Given the description of an element on the screen output the (x, y) to click on. 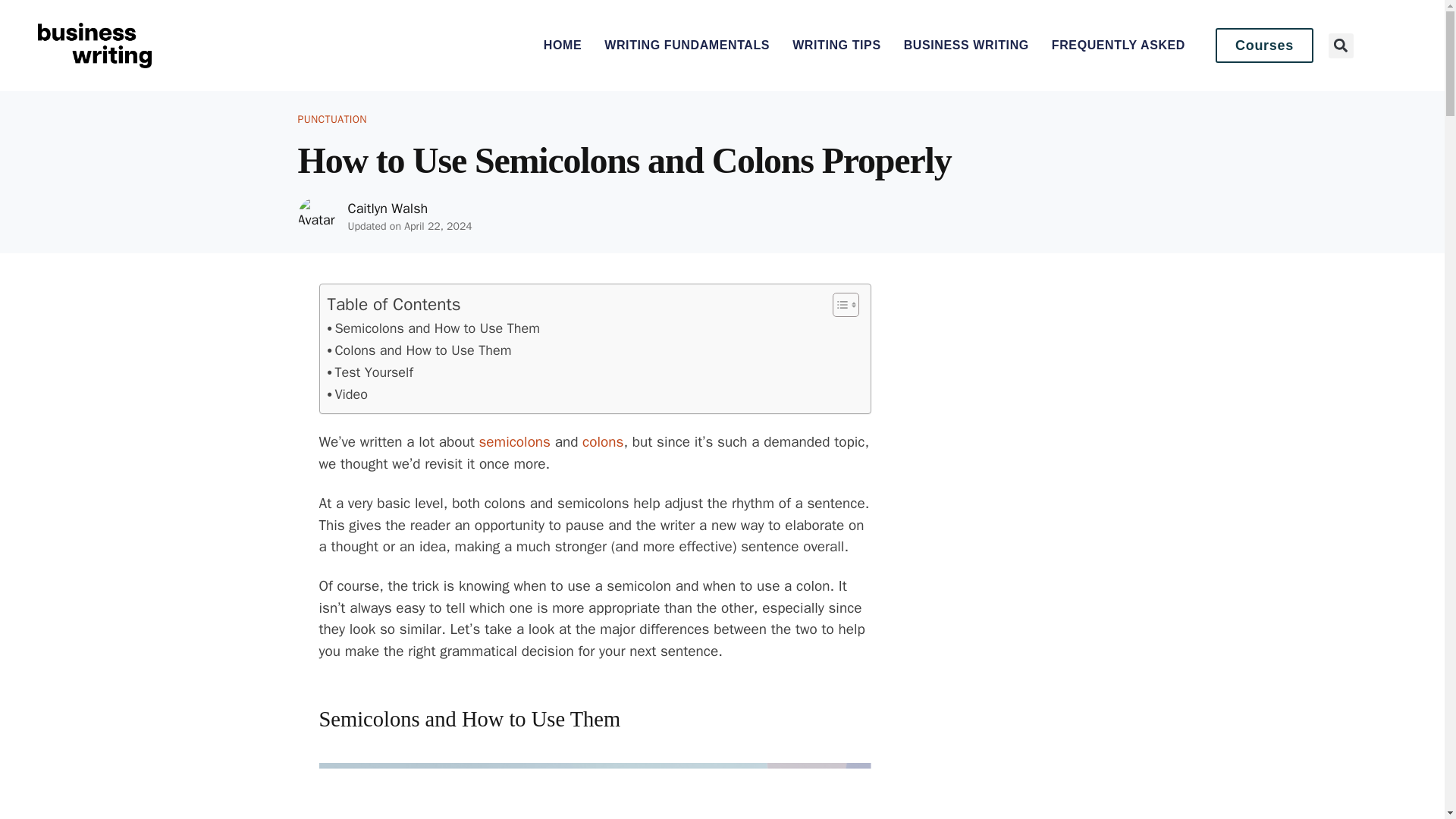
BUSINESS WRITING (966, 45)
PUNCTUATION (331, 119)
HOME (561, 45)
Courses (1264, 45)
WRITING TIPS (836, 45)
Semicolons and How to Use Them (433, 328)
Test Yourself (370, 372)
Video (347, 394)
WRITING FUNDAMENTALS (687, 45)
